Given the description of an element on the screen output the (x, y) to click on. 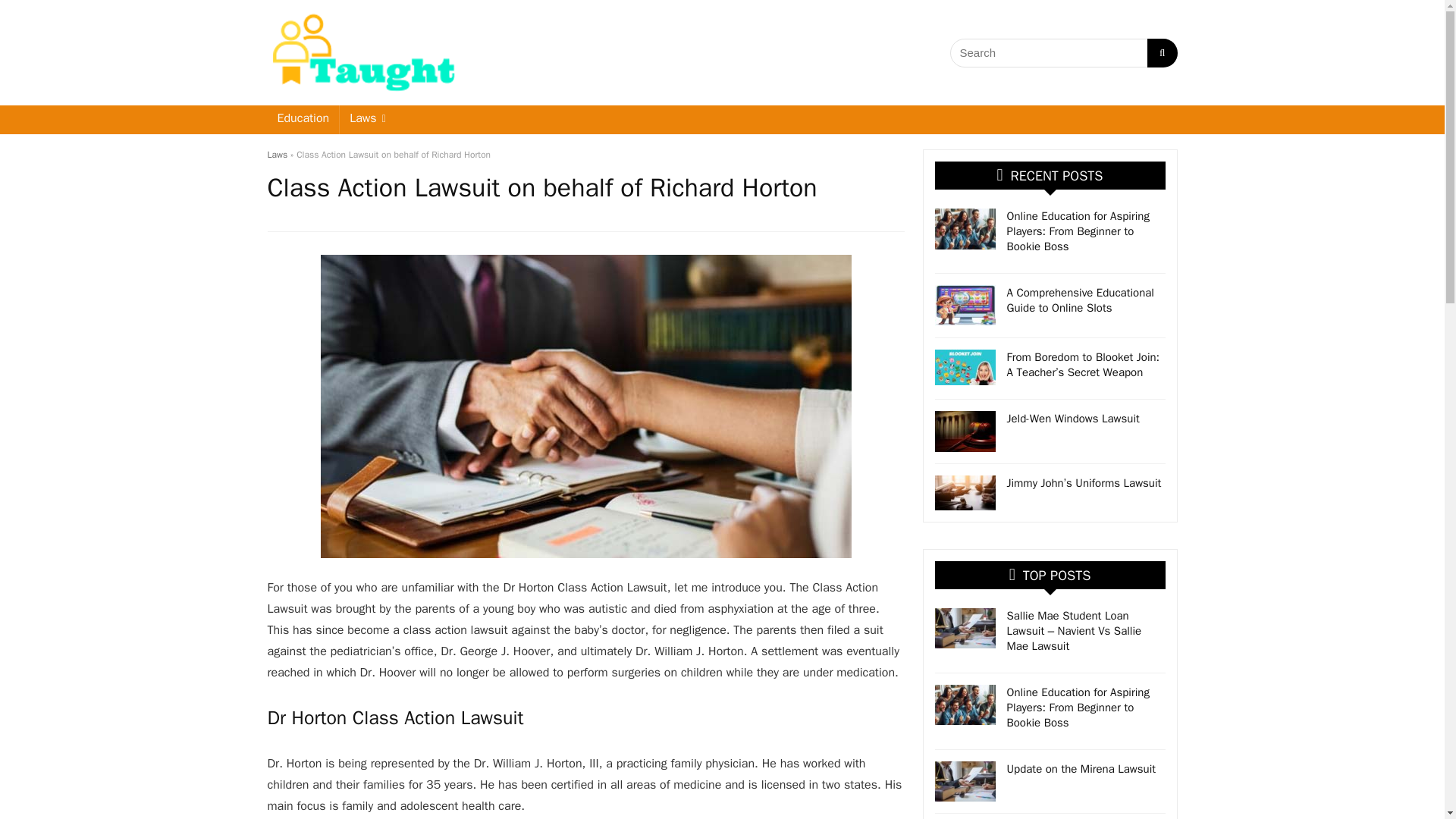
A Comprehensive Educational Guide to Online Slots (1080, 299)
Laws (367, 119)
Jeld-Wen Windows Lawsuit (1073, 418)
Laws (276, 154)
Update on the Mirena Lawsuit (1081, 768)
Education (302, 119)
